Given the description of an element on the screen output the (x, y) to click on. 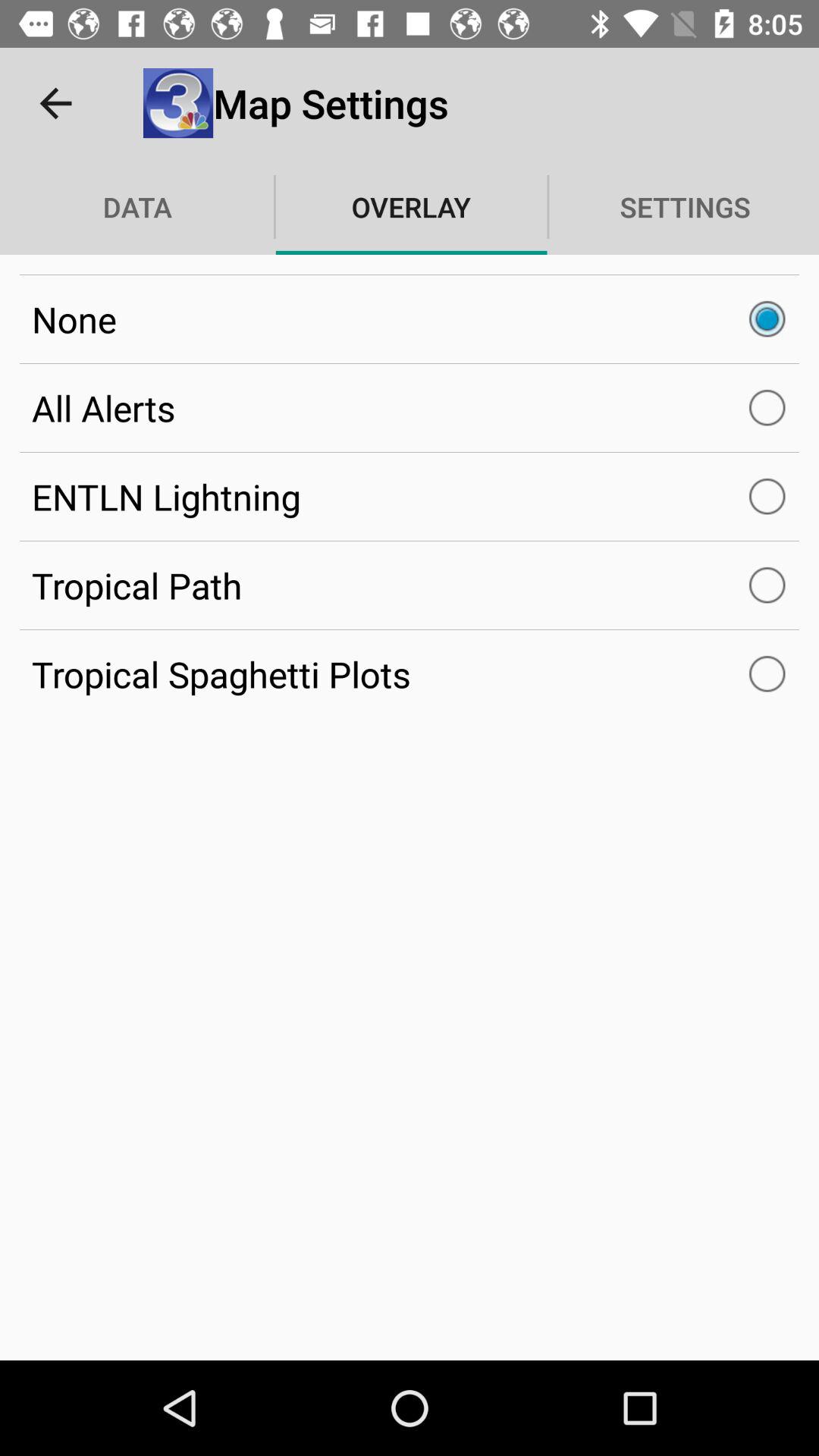
press all alerts item (409, 408)
